Given the description of an element on the screen output the (x, y) to click on. 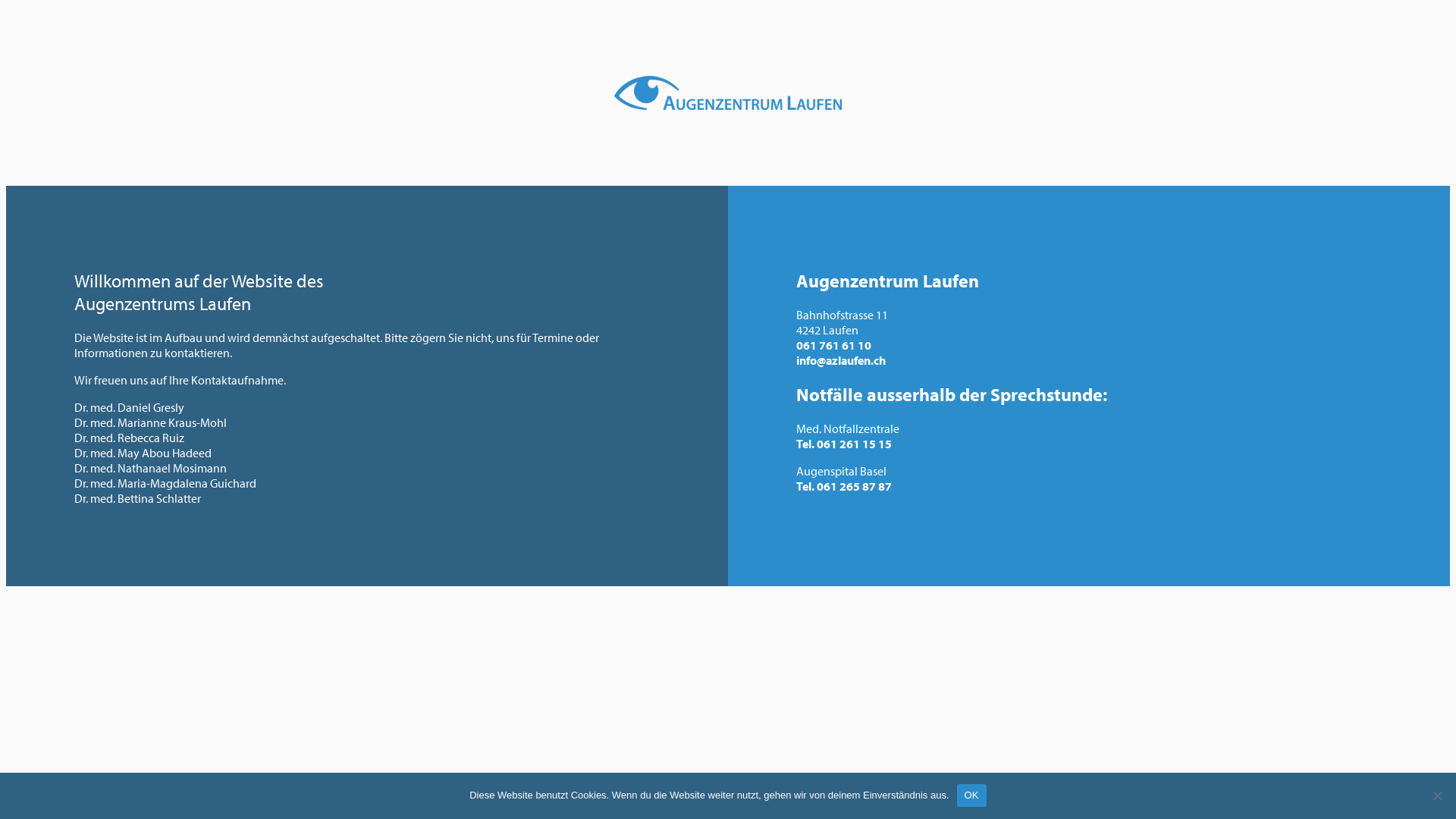
OK Element type: text (971, 795)
061 761 61 10 Element type: text (833, 344)
Tel. 061 265 87 87 Element type: text (843, 485)
Nein Element type: hover (1436, 795)
Tel. 061 261 15 15 Element type: text (843, 443)
info@azlaufen.ch Element type: text (840, 359)
